Given the description of an element on the screen output the (x, y) to click on. 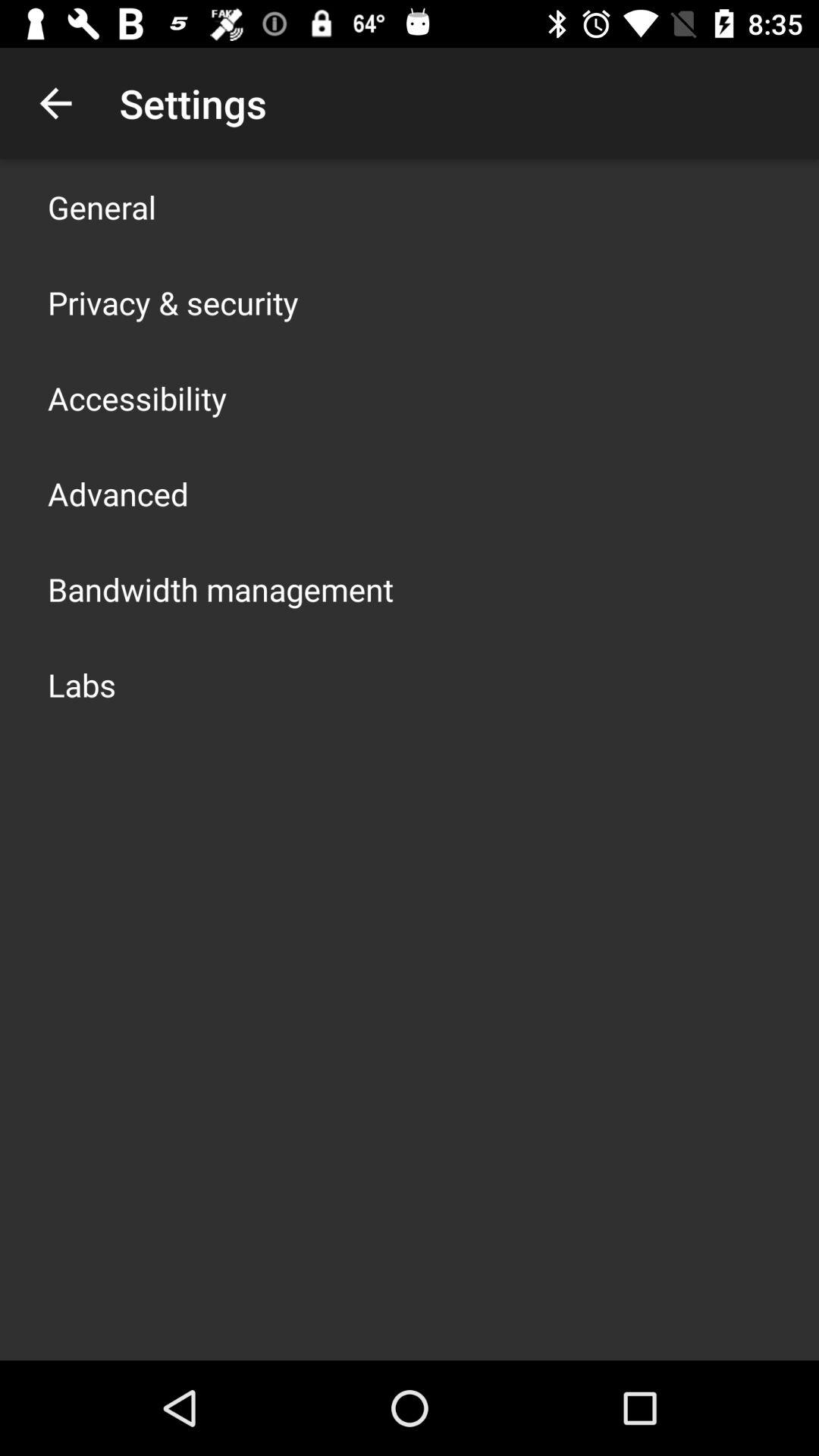
scroll until bandwidth management app (220, 588)
